Given the description of an element on the screen output the (x, y) to click on. 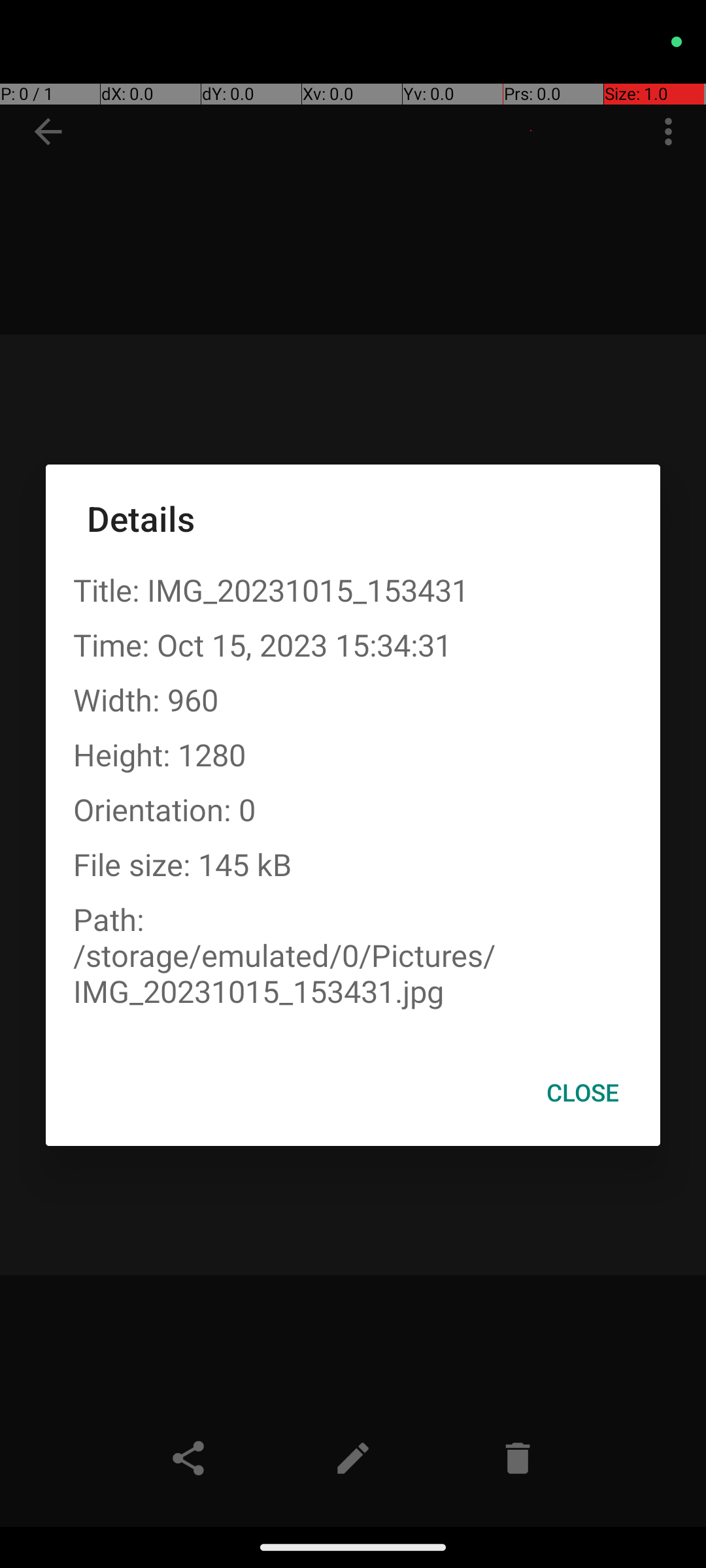
Details Element type: android.widget.TextView (352, 518)
Title: IMG_20231015_153431 Element type: android.widget.TextView (352, 589)
Time: Oct 15, 2023 15:34:31 Element type: android.widget.TextView (352, 644)
Width: 960 Element type: android.widget.TextView (352, 698)
Height: 1280 Element type: android.widget.TextView (352, 753)
Orientation: 0 Element type: android.widget.TextView (352, 808)
File size: 145 kB Element type: android.widget.TextView (352, 863)
Path: 
/storage/emulated/0/Pictures/IMG_20231015_153431.jpg Element type: android.widget.TextView (352, 954)
CLOSE Element type: android.widget.Button (582, 1091)
